Given the description of an element on the screen output the (x, y) to click on. 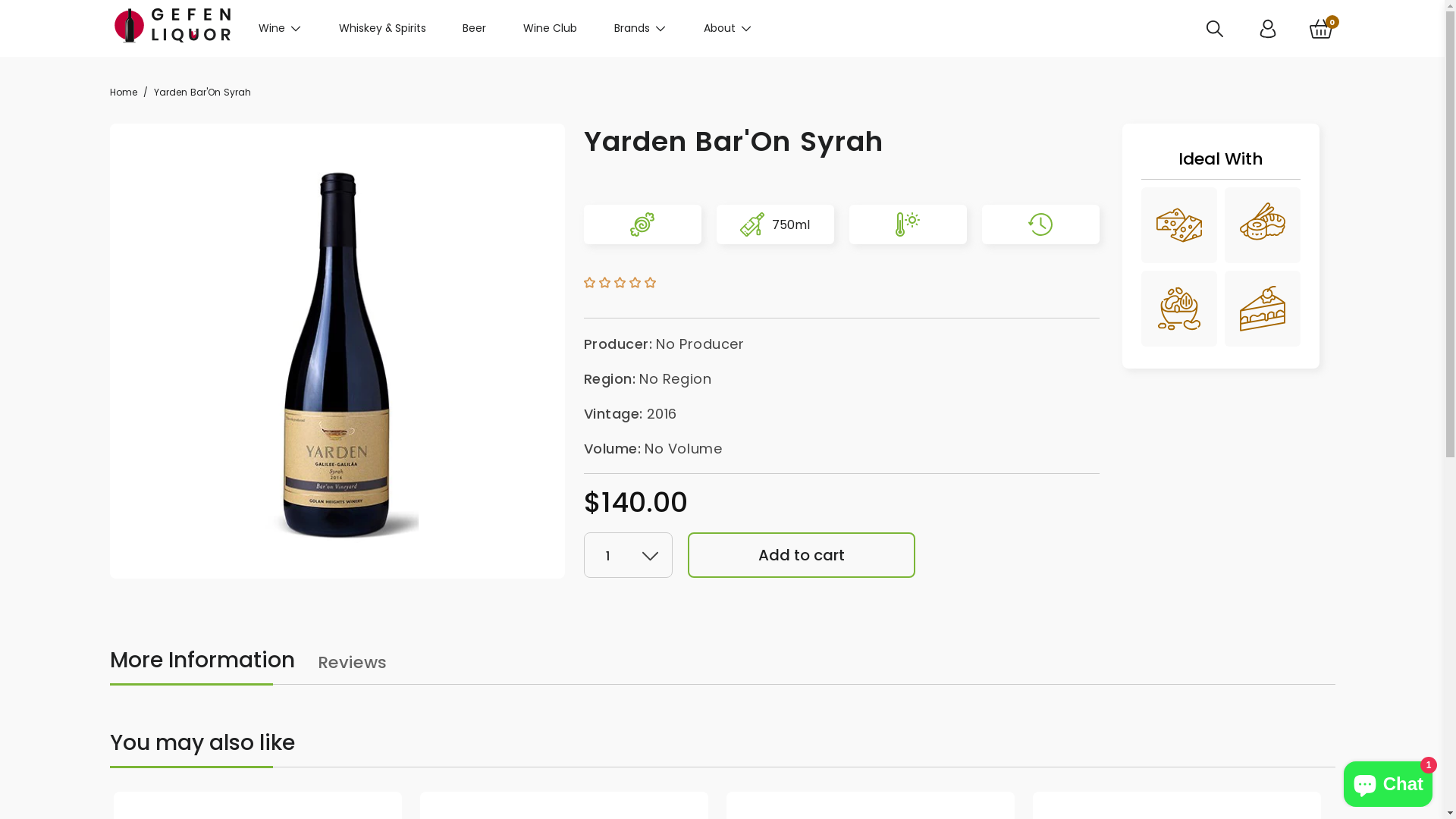
About Element type: text (727, 28)
Wine Element type: text (279, 28)
Brands Element type: text (640, 28)
Shopify online store chat Element type: hover (1388, 780)
Beer Element type: text (474, 28)
Home Element type: text (122, 91)
Whiskey & Spirits Element type: text (382, 28)
Add to cart Element type: text (800, 554)
Wine Club Element type: text (550, 28)
